Given the description of an element on the screen output the (x, y) to click on. 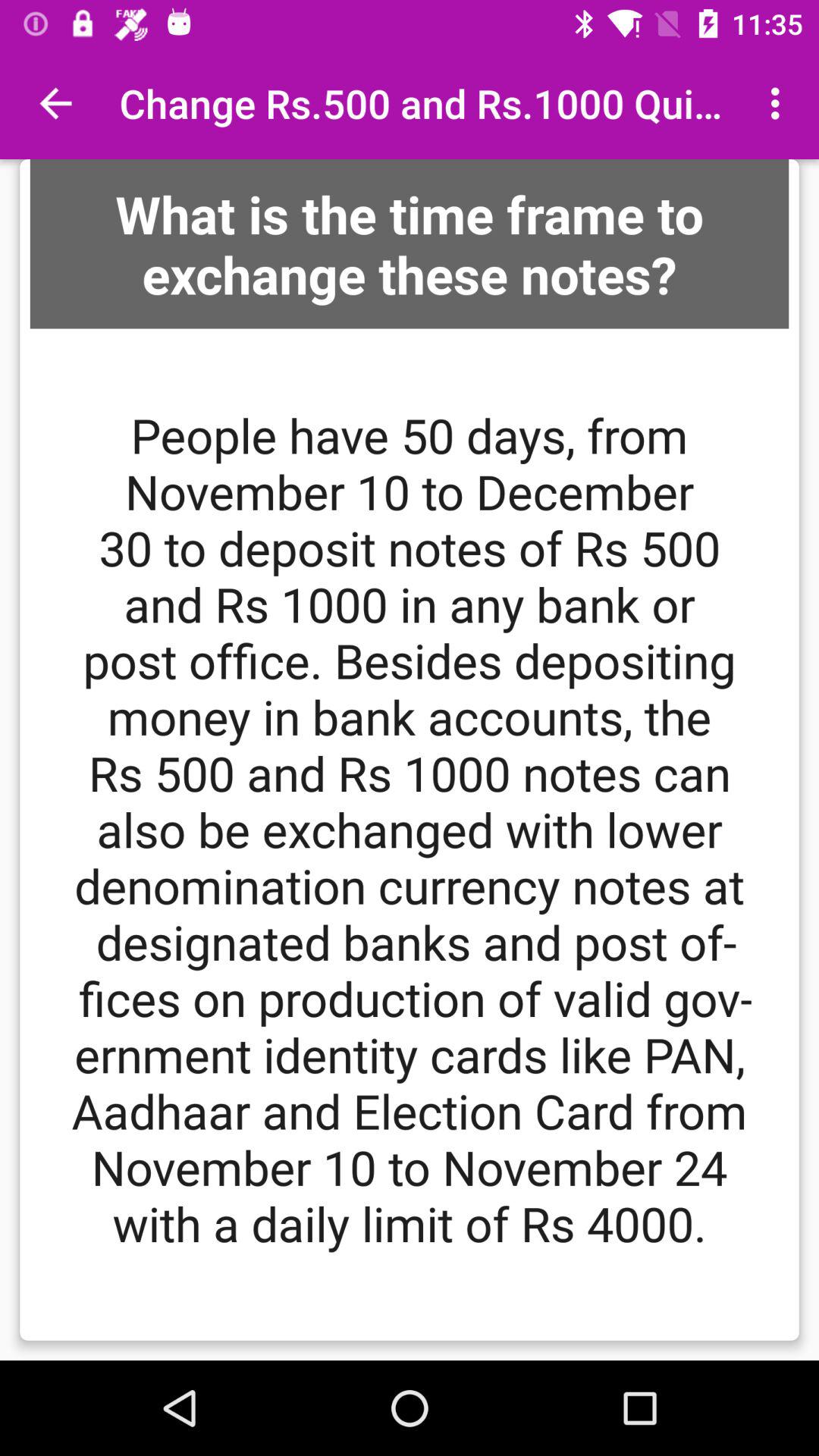
launch the icon at the top right corner (779, 103)
